Given the description of an element on the screen output the (x, y) to click on. 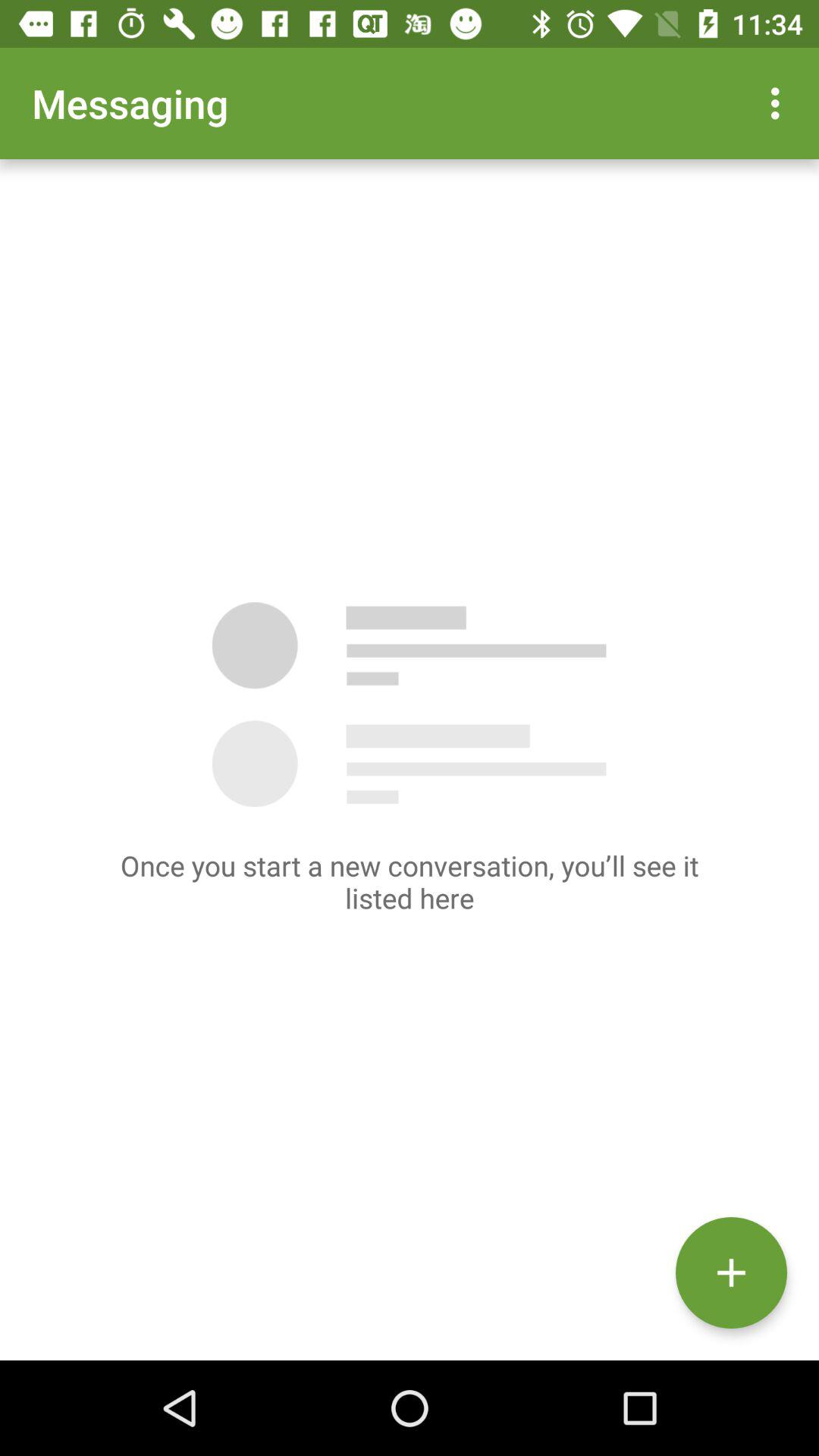
turn on the app next to the messaging icon (779, 103)
